Given the description of an element on the screen output the (x, y) to click on. 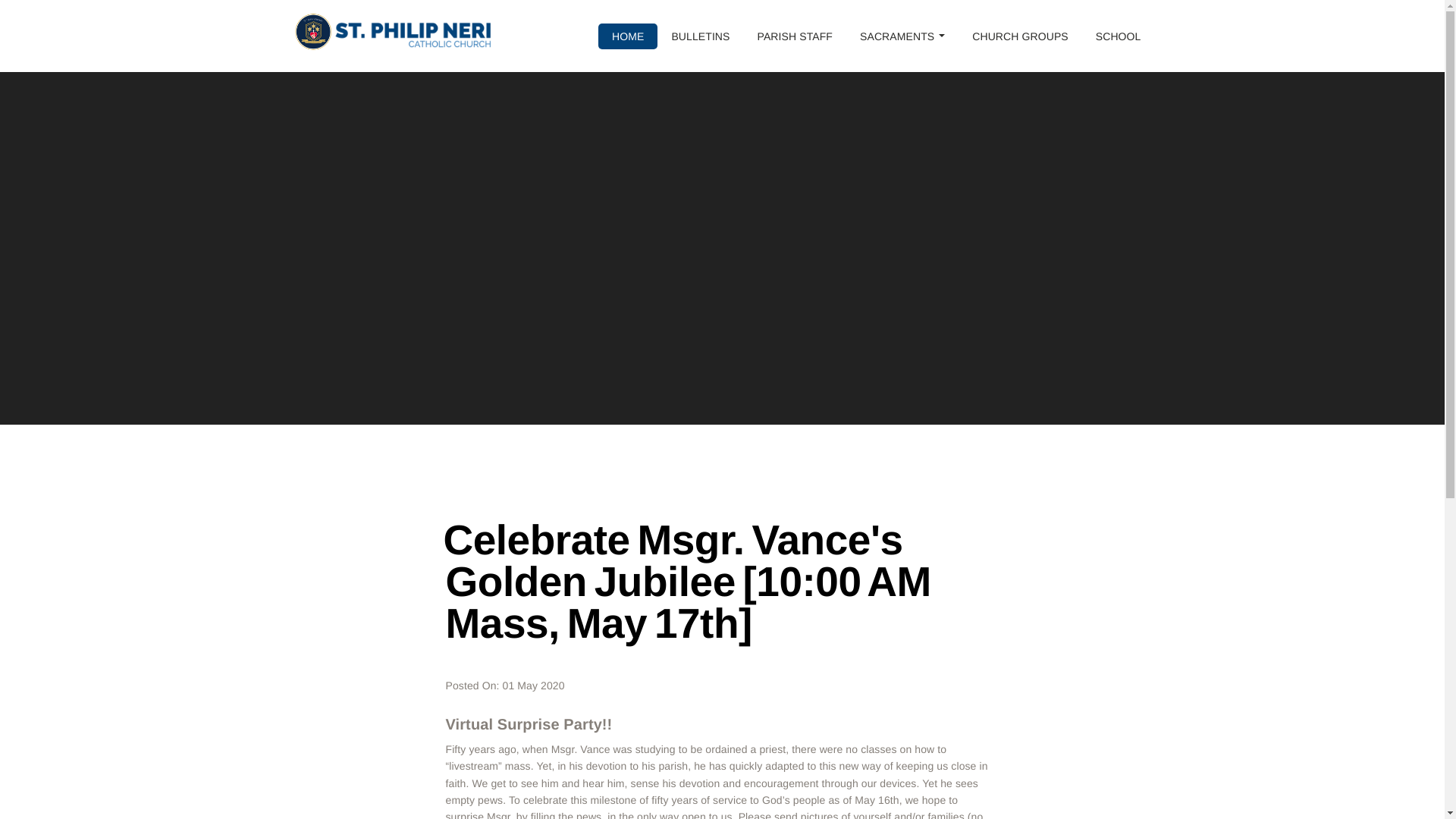
SCHOOL (1117, 36)
CHURCH GROUPS (1019, 36)
BULLETINS (700, 36)
HOME (628, 36)
SACRAMENTS (901, 36)
PARISH STAFF (794, 36)
